Given the description of an element on the screen output the (x, y) to click on. 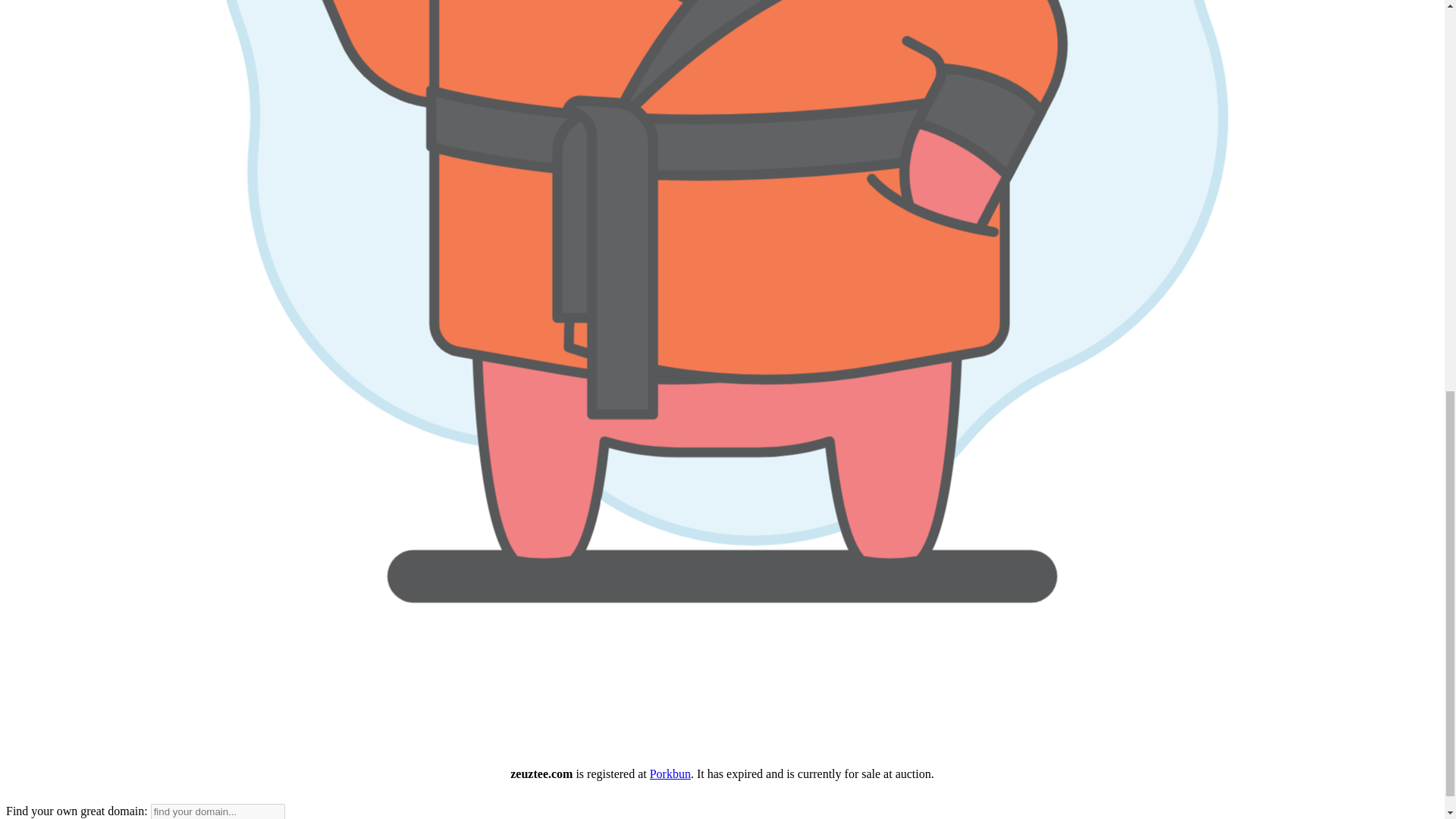
Porkbun (669, 773)
